Given the description of an element on the screen output the (x, y) to click on. 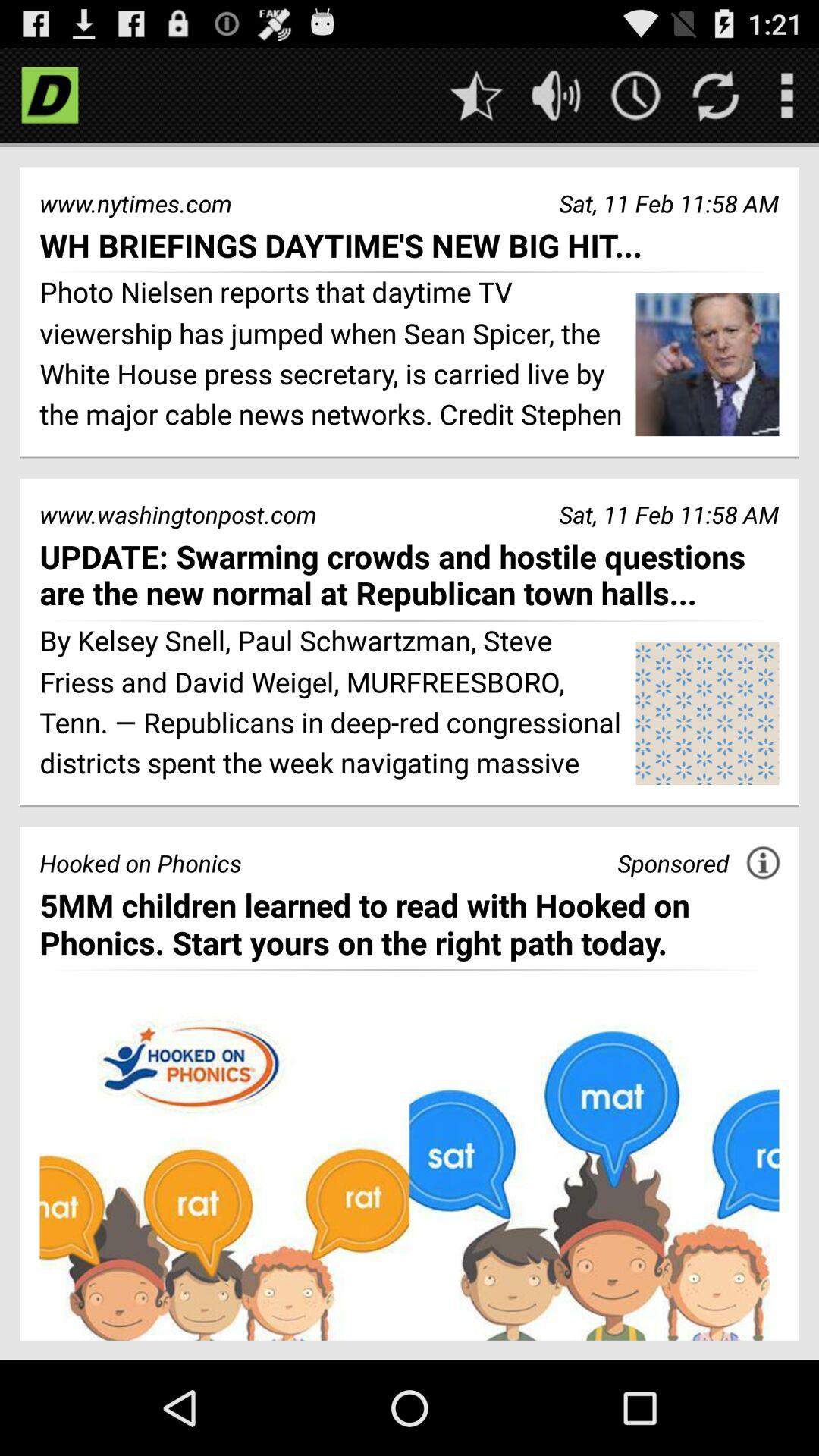
click icon next to the hooked on phonics icon (673, 862)
